Given the description of an element on the screen output the (x, y) to click on. 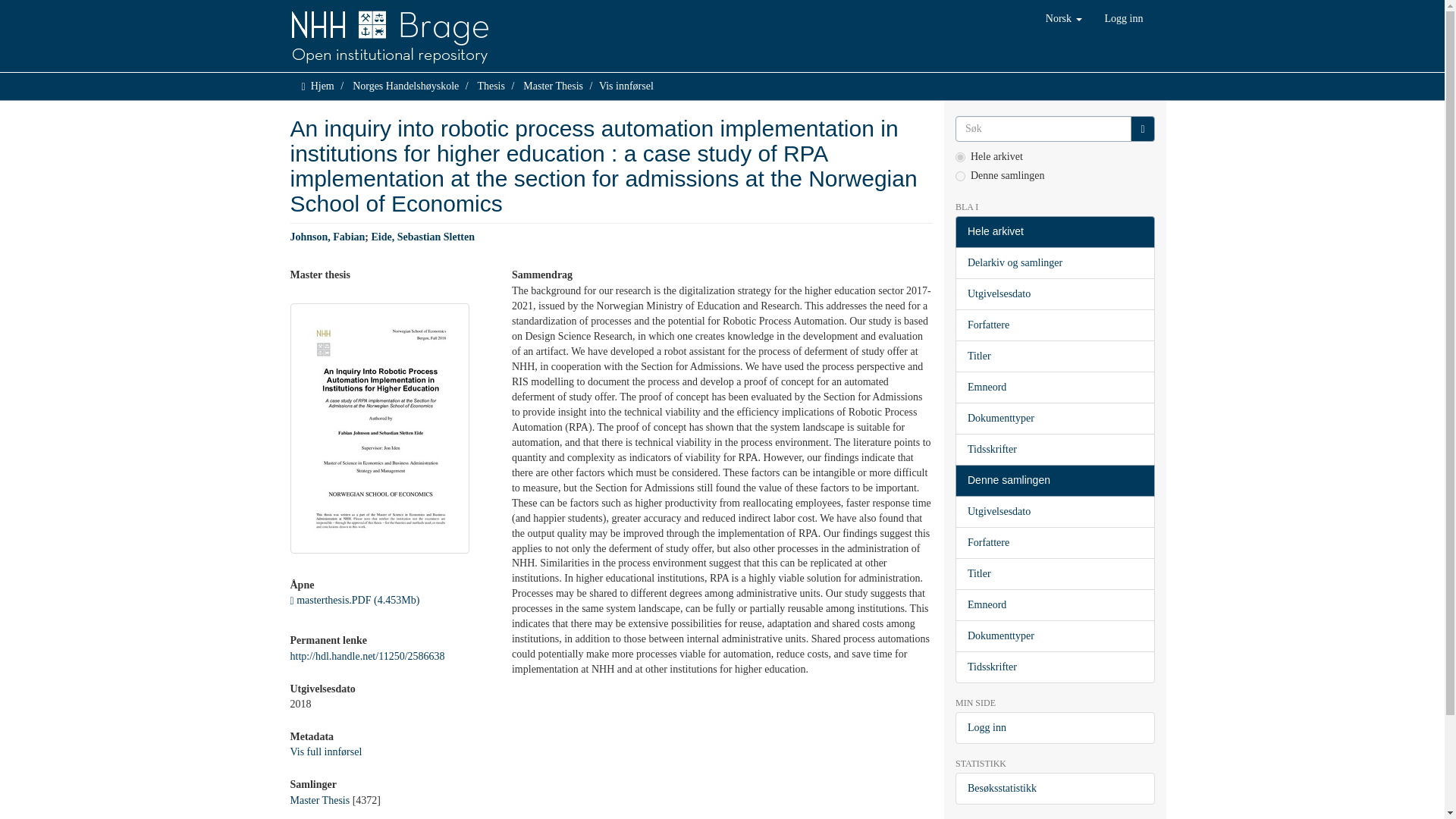
Delarkiv og samlinger (1054, 263)
Hjem (322, 85)
Master Thesis (319, 799)
Titler (1054, 356)
Master Thesis (552, 85)
Eide, Sebastian Sletten (423, 236)
Logg inn (1123, 18)
Forfattere (1054, 325)
Hele arkivet (1054, 232)
Norsk  (1063, 18)
